Given the description of an element on the screen output the (x, y) to click on. 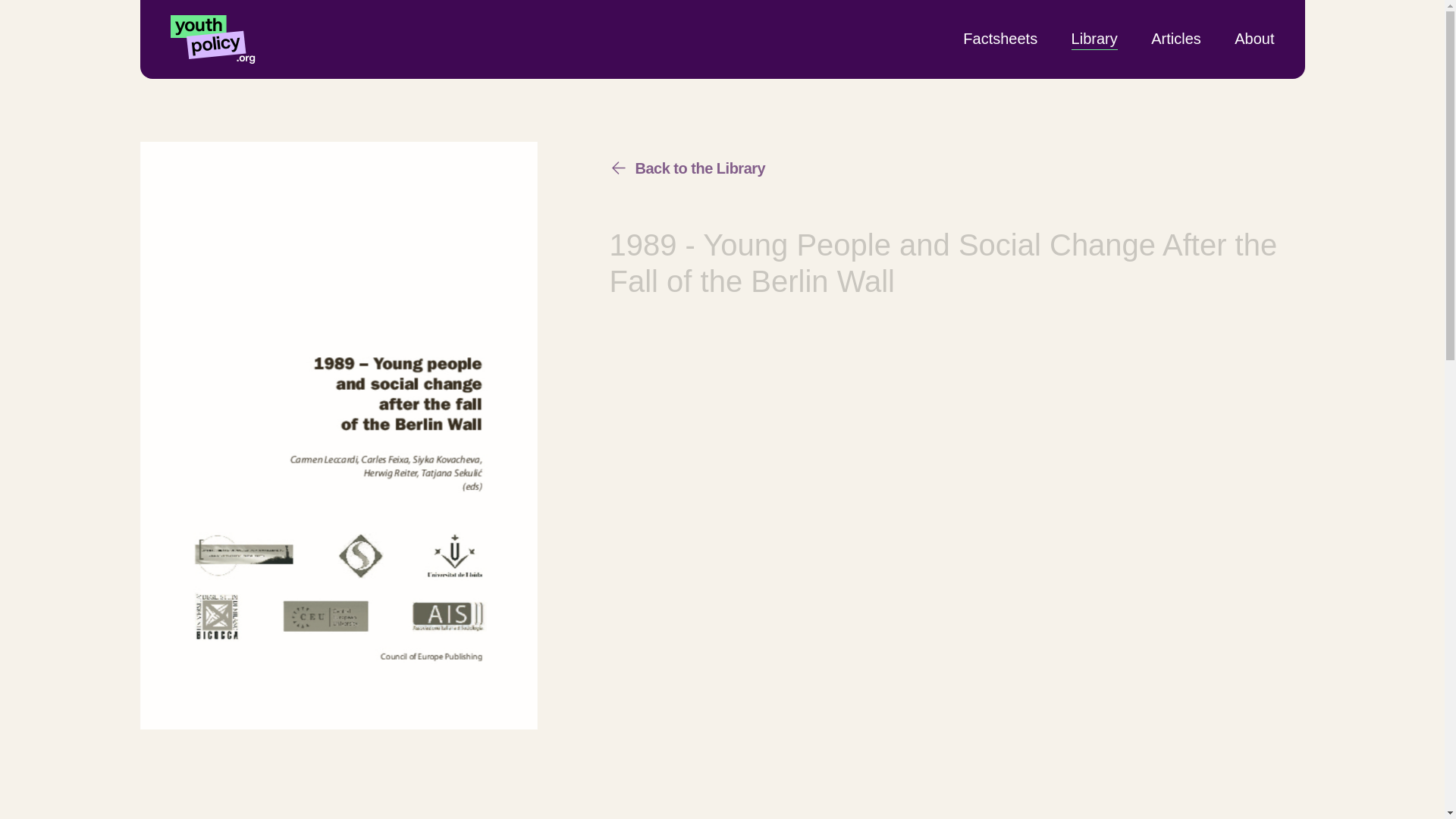
Articles (1176, 38)
Factsheets (999, 38)
Back to the Library (687, 168)
About (1254, 38)
Library (1094, 38)
